Given the description of an element on the screen output the (x, y) to click on. 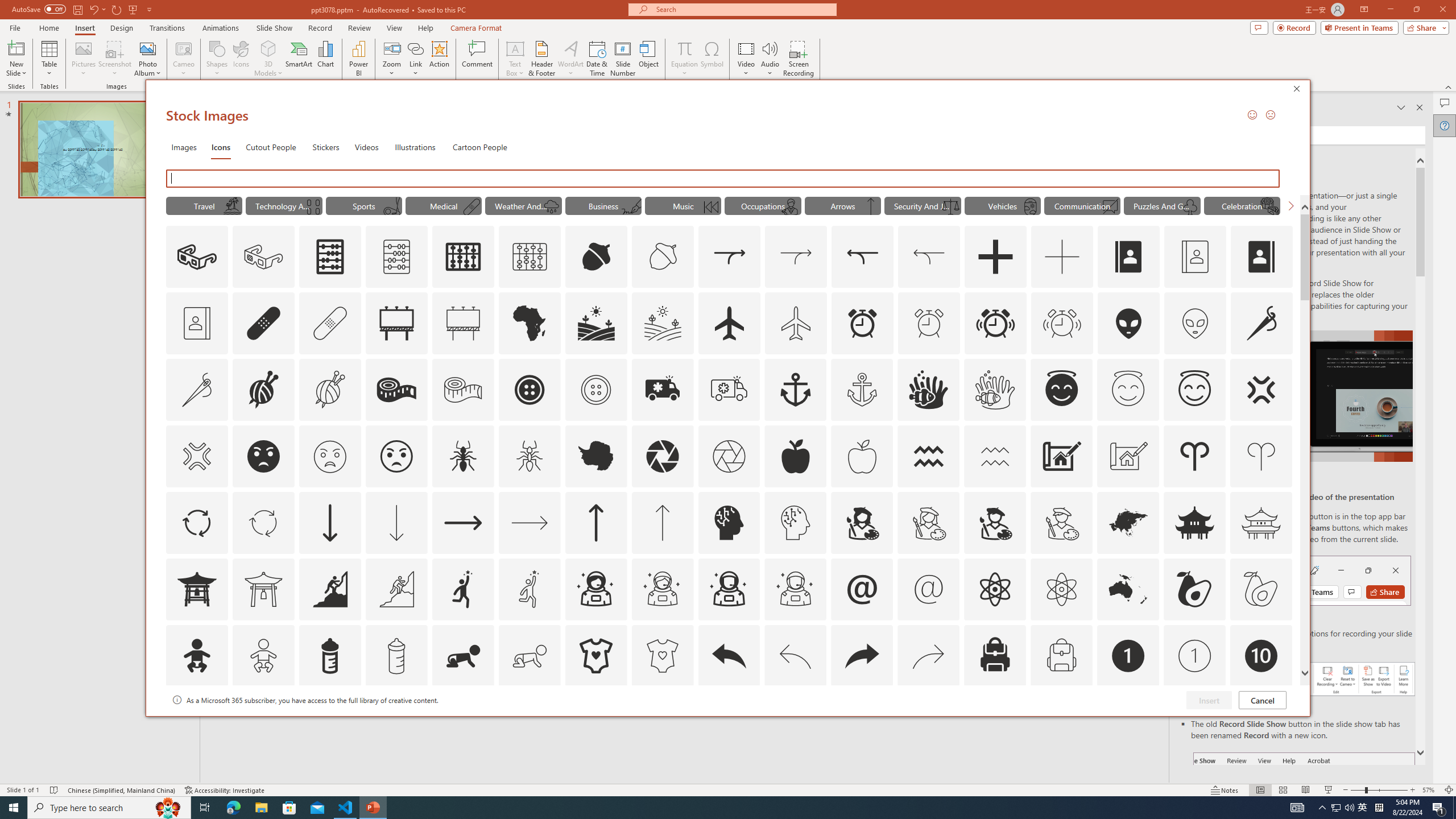
AutomationID: Icons_Abacus1 (462, 256)
"Arrows" Icons. (842, 205)
AutomationID: Icons_AlterationsTailoring (1261, 323)
AutomationID: Icons_AngelFace (1061, 389)
AutomationID: Icons_AsianTemple1 (196, 588)
"Security And Justice" Icons. (921, 205)
AutomationID: Icons_Acquisition_LTR_M (796, 256)
